Given the description of an element on the screen output the (x, y) to click on. 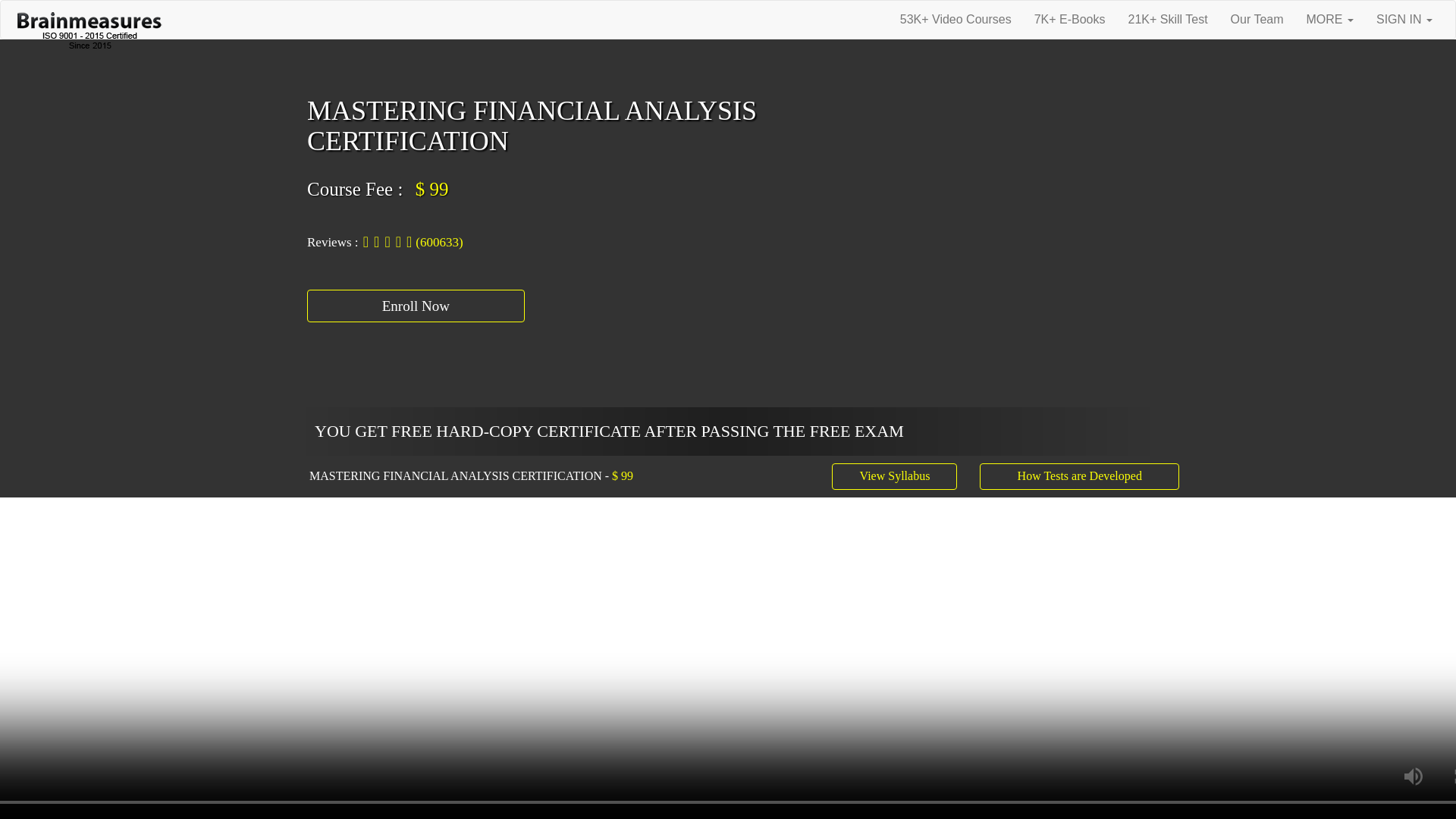
Enroll Now (415, 305)
MORE (1330, 19)
SIGN IN (1404, 19)
How Tests are Developed (1079, 476)
Our Team (1257, 19)
View Syllabus (893, 476)
